Given the description of an element on the screen output the (x, y) to click on. 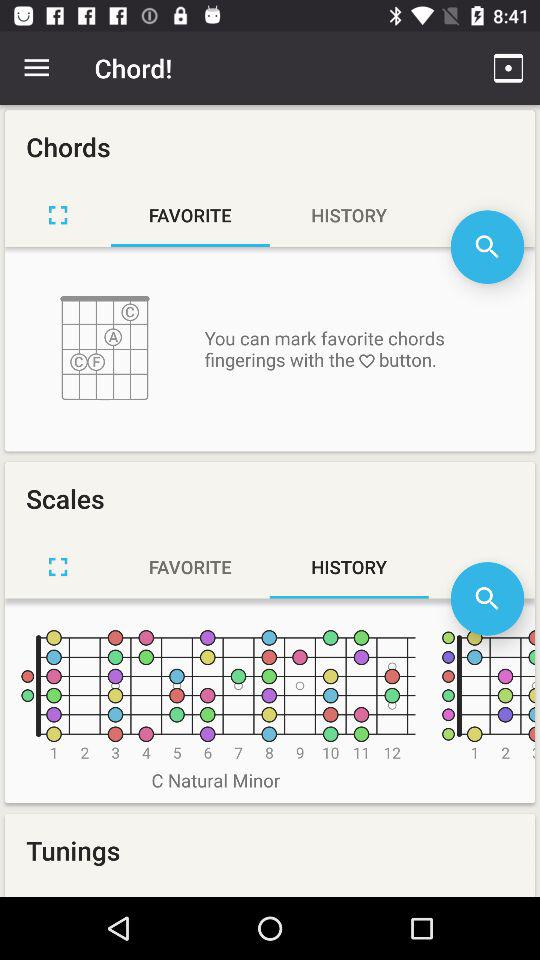
search icon (487, 598)
